Given the description of an element on the screen output the (x, y) to click on. 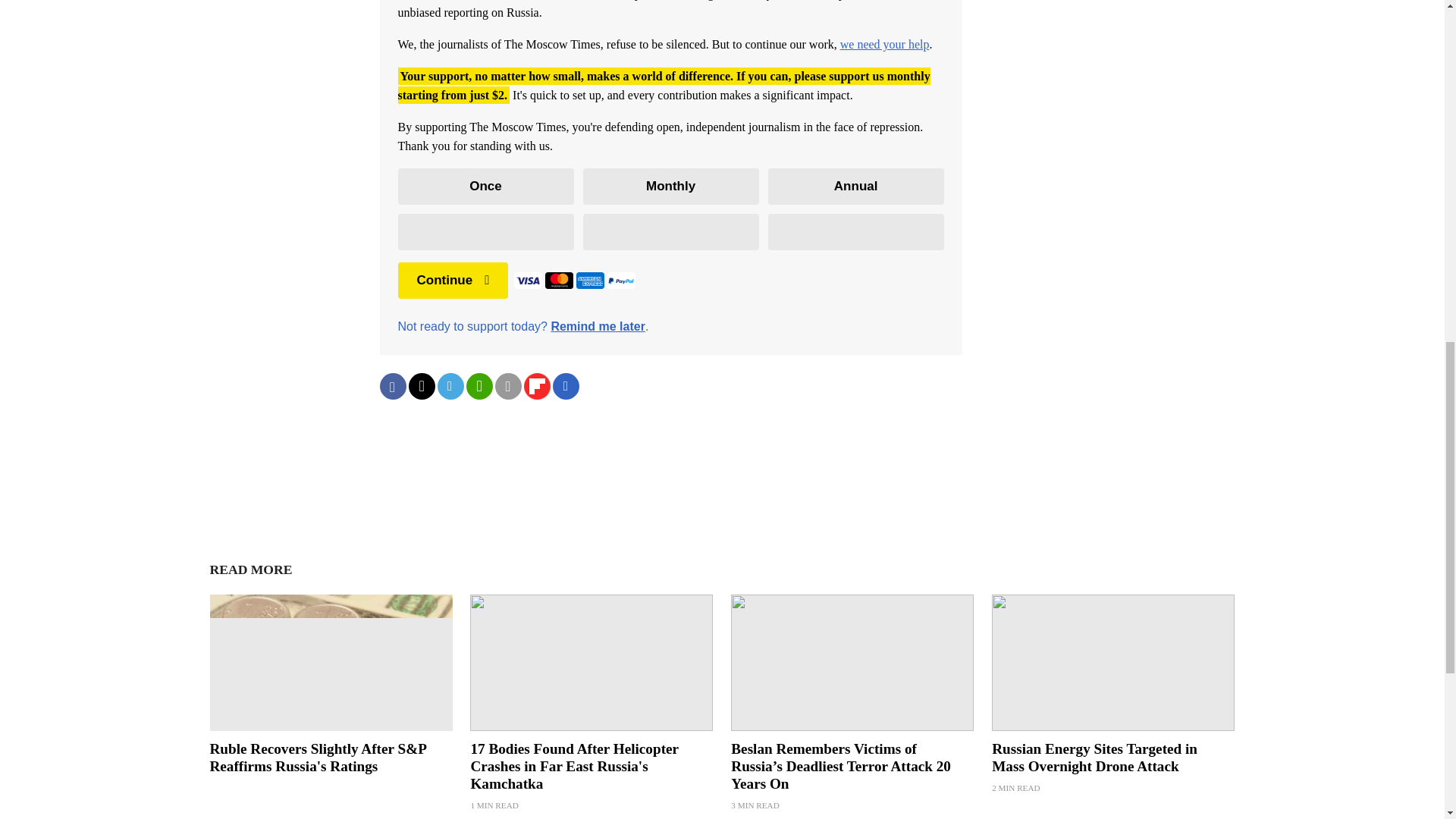
we need your help (885, 43)
Share on Facebook (392, 386)
Share on Twitter (420, 386)
Share on Flipboard (536, 386)
Share on Telegram (449, 386)
